Given the description of an element on the screen output the (x, y) to click on. 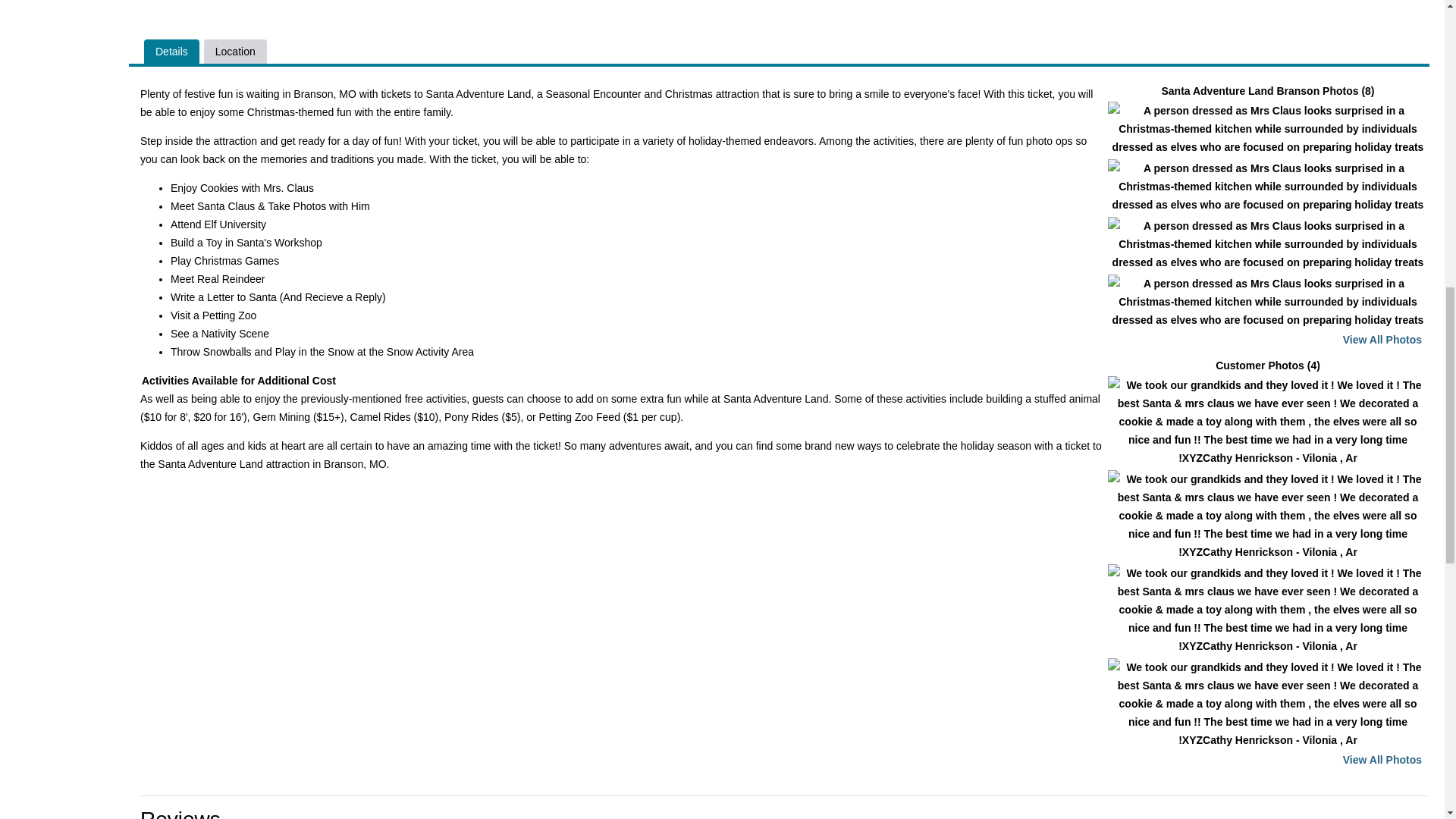
Details (171, 51)
View All Photos (1382, 339)
View All Photos (1382, 759)
Location (235, 51)
